Given the description of an element on the screen output the (x, y) to click on. 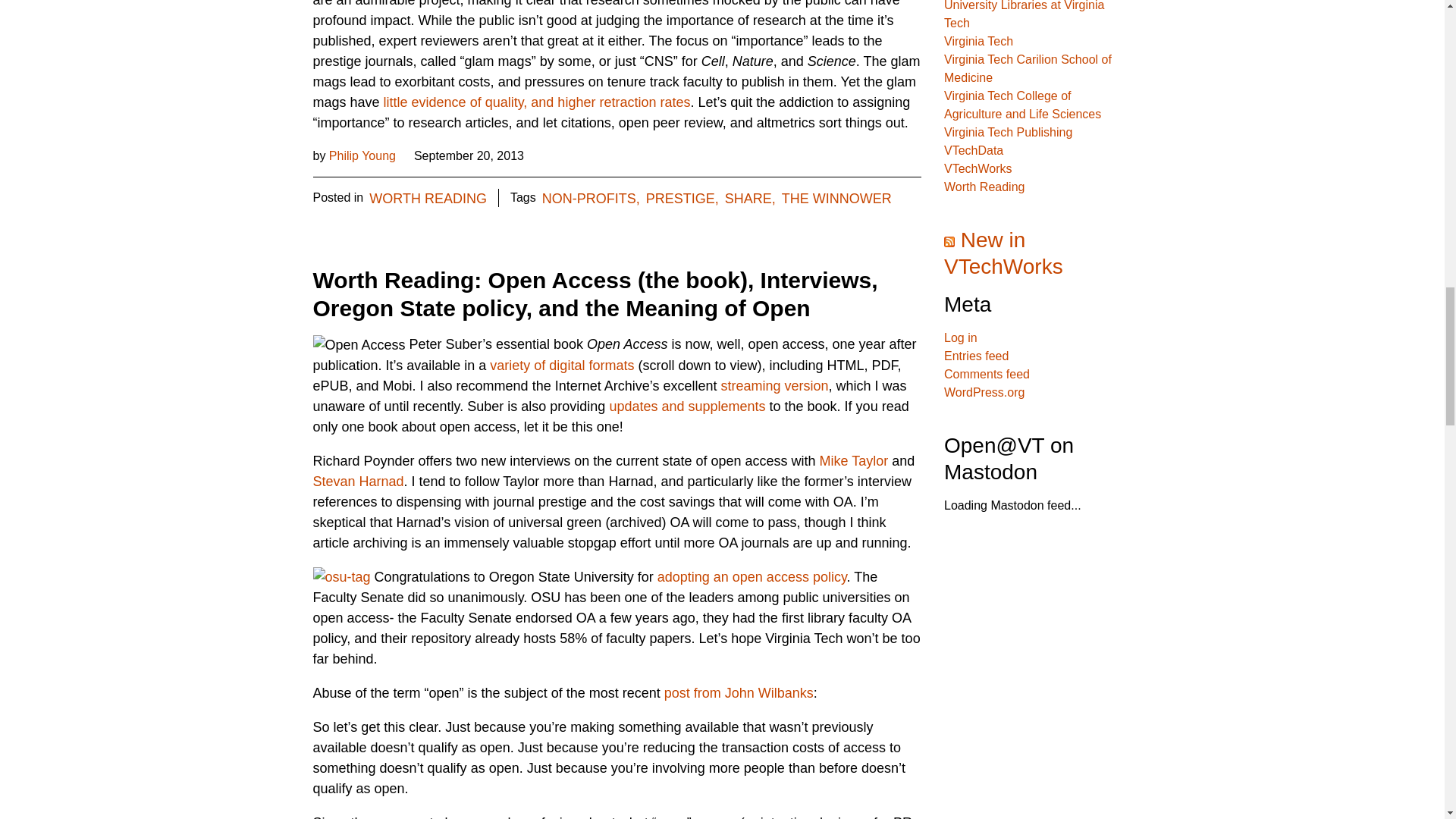
Retraction rates (537, 102)
NON-PROFITS, (590, 200)
Open Access the book (362, 155)
Open Access the book (686, 406)
SHARE, (774, 385)
THE WINNOWER (750, 200)
WORTH READING (836, 200)
Peter Suber's Open Access (427, 200)
variety of digital formats (561, 365)
